Given the description of an element on the screen output the (x, y) to click on. 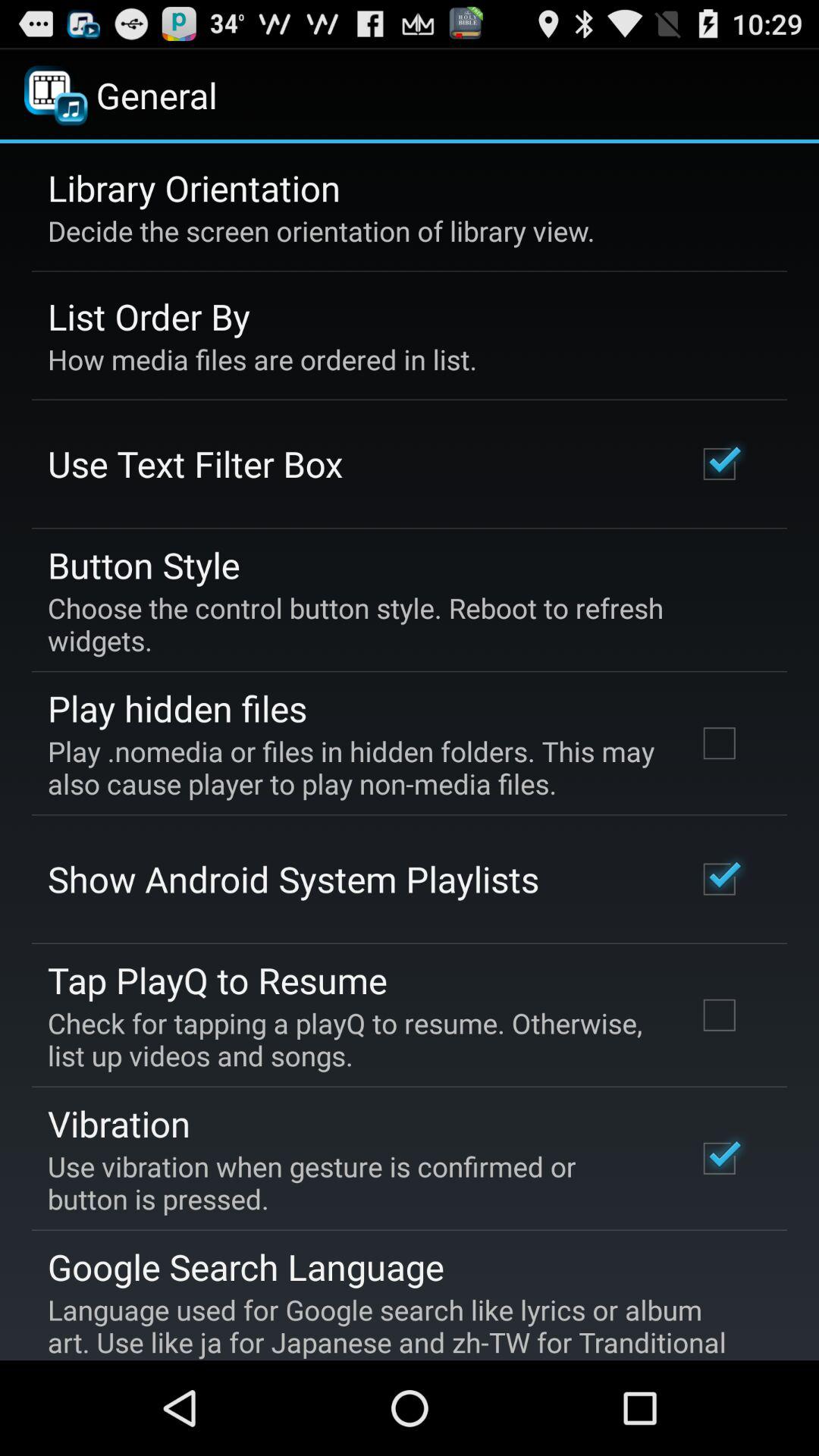
choose the icon above the list order by (320, 230)
